Given the description of an element on the screen output the (x, y) to click on. 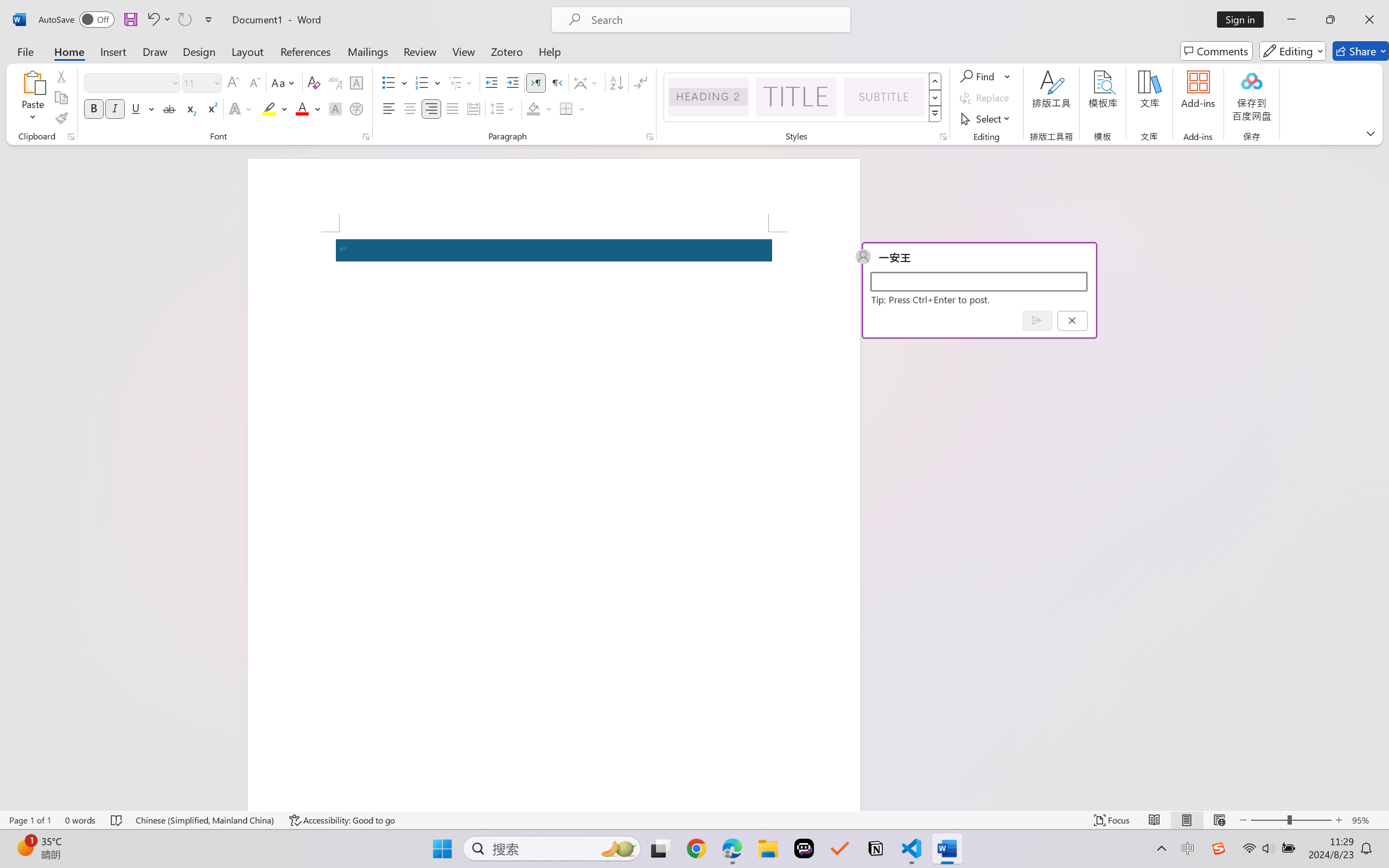
Post comment (Ctrl + Enter) (1036, 320)
